Given the description of an element on the screen output the (x, y) to click on. 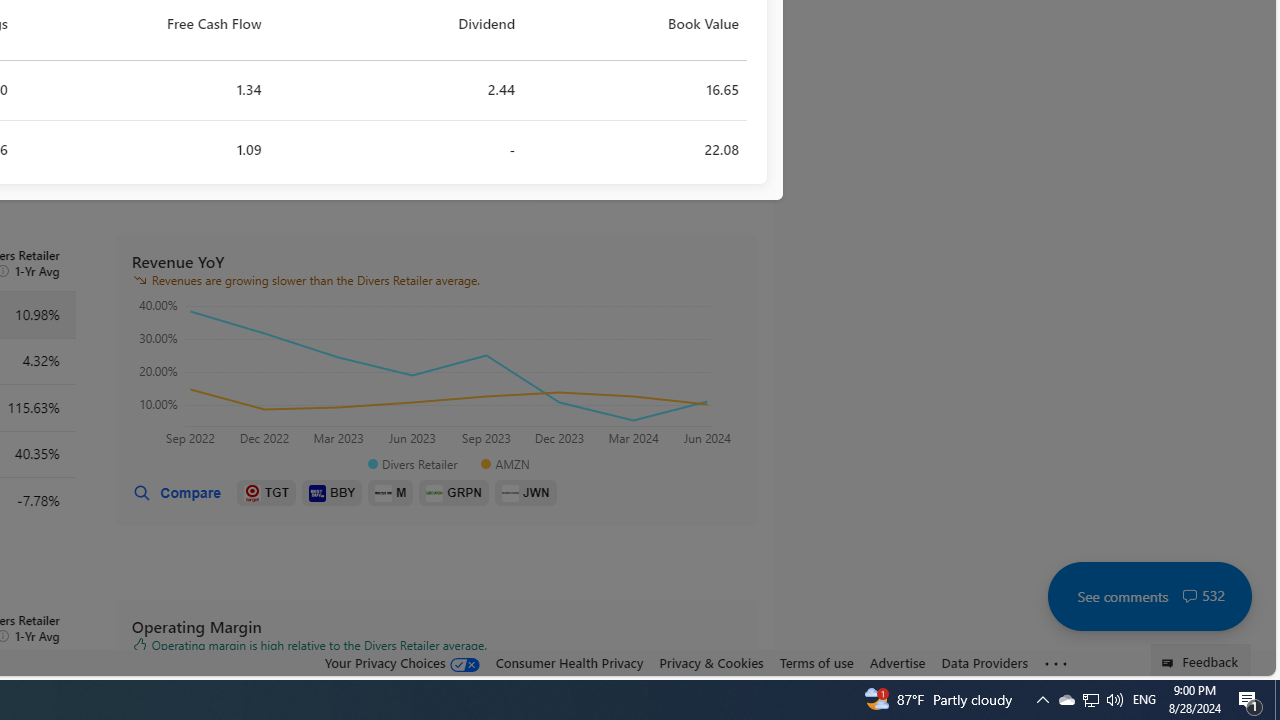
JWN (525, 493)
Data Providers (983, 663)
Consumer Health Privacy (569, 663)
See comments 532 (1149, 596)
Class: react-financial-charts (436, 375)
Data Providers (983, 662)
Class: imagIcon-DS-EntryPoint1-1 (510, 492)
Privacy & Cookies (711, 662)
Terms of use (816, 663)
Advertise (897, 663)
Compare (175, 493)
Consumer Health Privacy (569, 662)
